Given the description of an element on the screen output the (x, y) to click on. 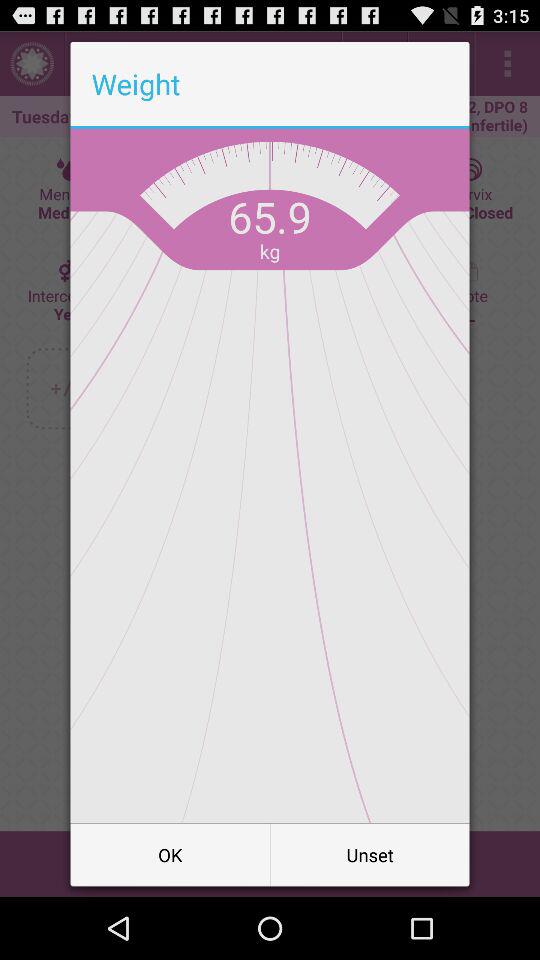
launch icon at the bottom right corner (369, 854)
